Given the description of an element on the screen output the (x, y) to click on. 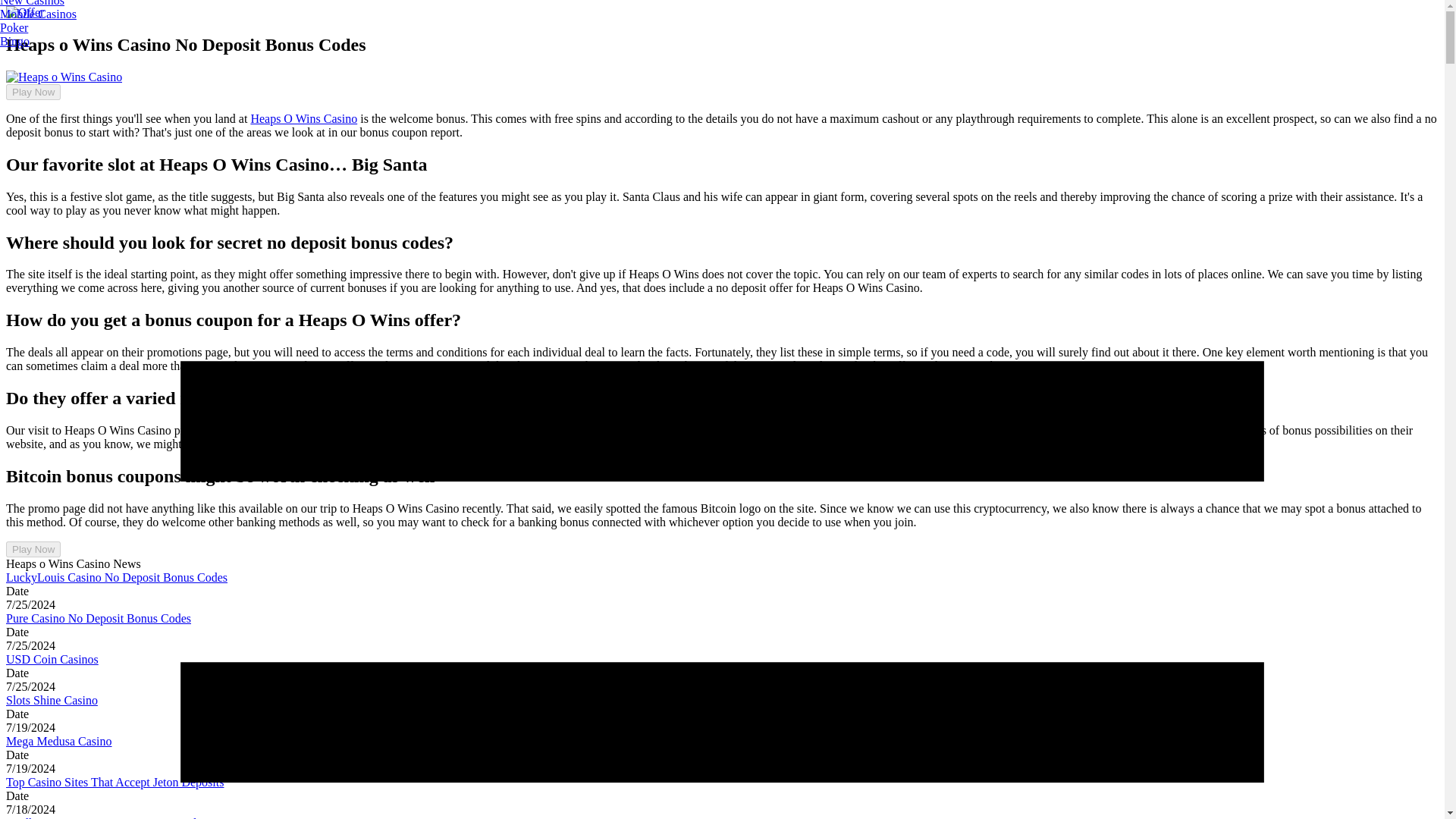
Slots Shine Casino (51, 699)
Top Casino Sites That Accept Jeton Deposits (114, 781)
LuckyLouis Casino No Deposit Bonus Codes (116, 576)
Play Now (33, 91)
USD Coin Casinos (52, 658)
Heaps O Wins Casino (303, 118)
Pure Casino No Deposit Bonus Codes (97, 617)
Mega Medusa Casino (58, 740)
Play Now (33, 549)
Dealbet Casino No Deposit Bonus Codes (105, 817)
